Given the description of an element on the screen output the (x, y) to click on. 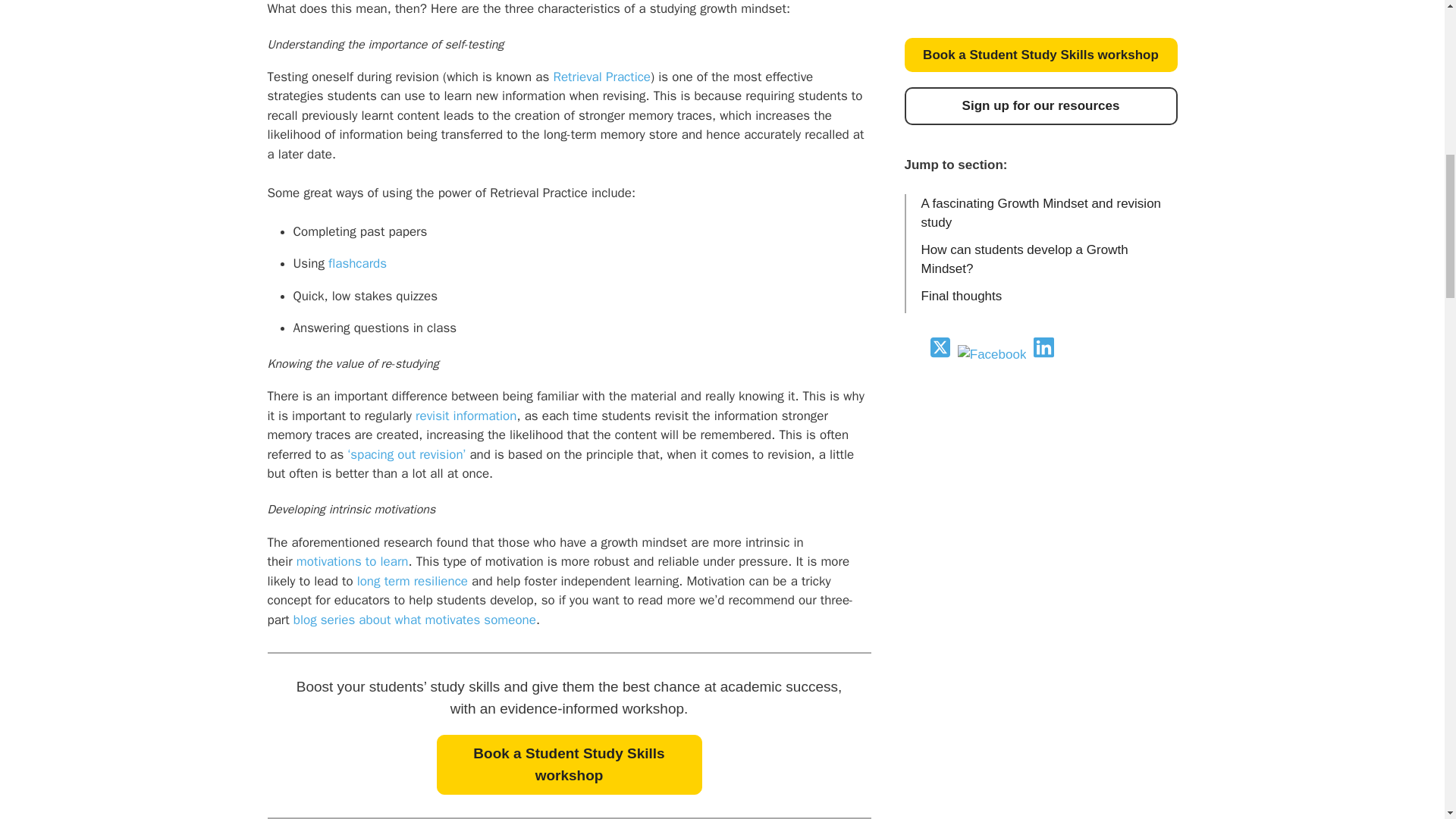
Retrieval Practice (601, 76)
revisit information (465, 415)
motivations to learn (353, 561)
flashcards (358, 263)
